Given the description of an element on the screen output the (x, y) to click on. 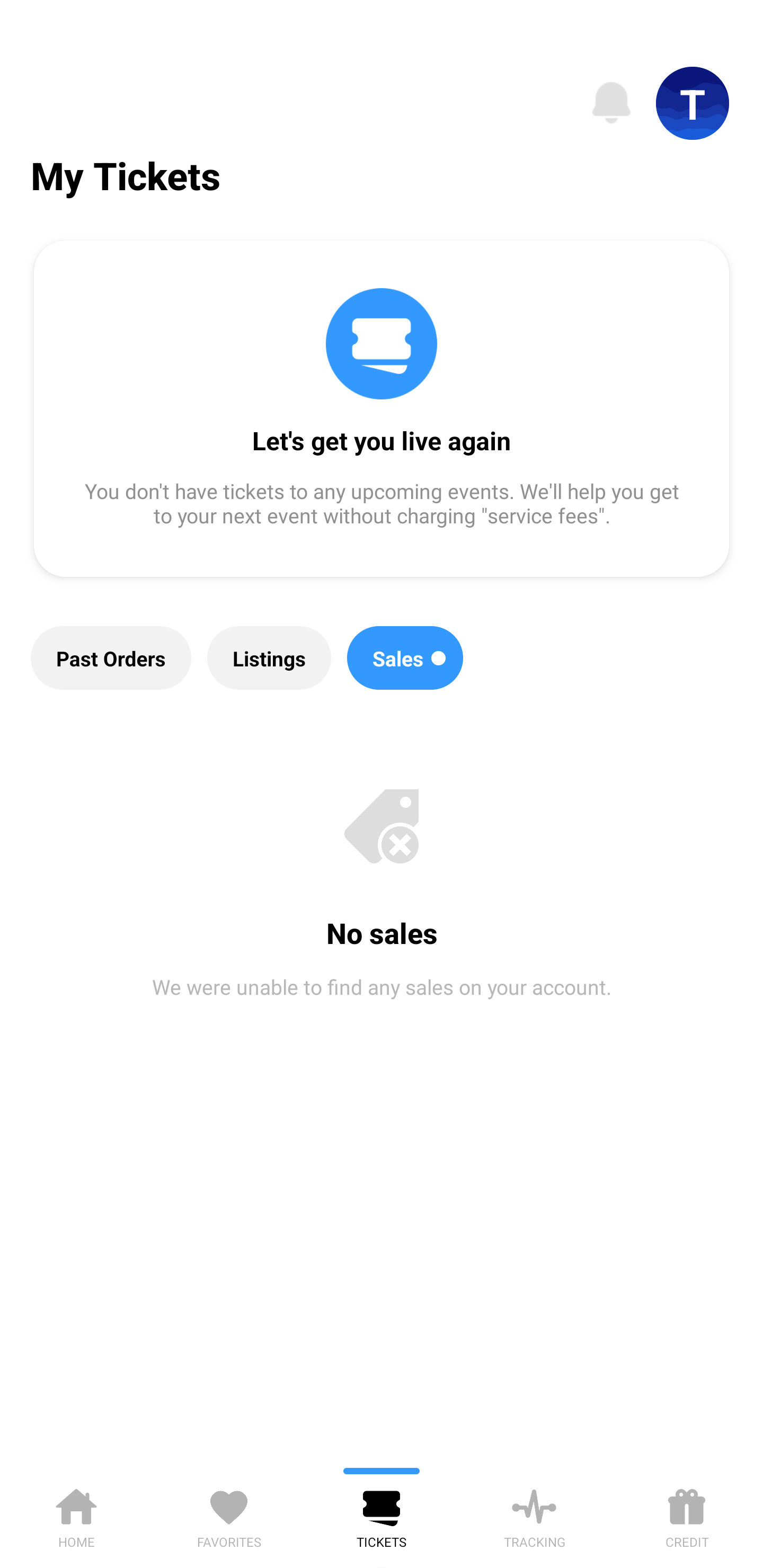
T (692, 103)
Past Orders (110, 657)
Listings (269, 657)
Sales (405, 657)
HOME (76, 1515)
FAVORITES (228, 1515)
TICKETS (381, 1515)
TRACKING (533, 1515)
CREDIT (686, 1515)
